Given the description of an element on the screen output the (x, y) to click on. 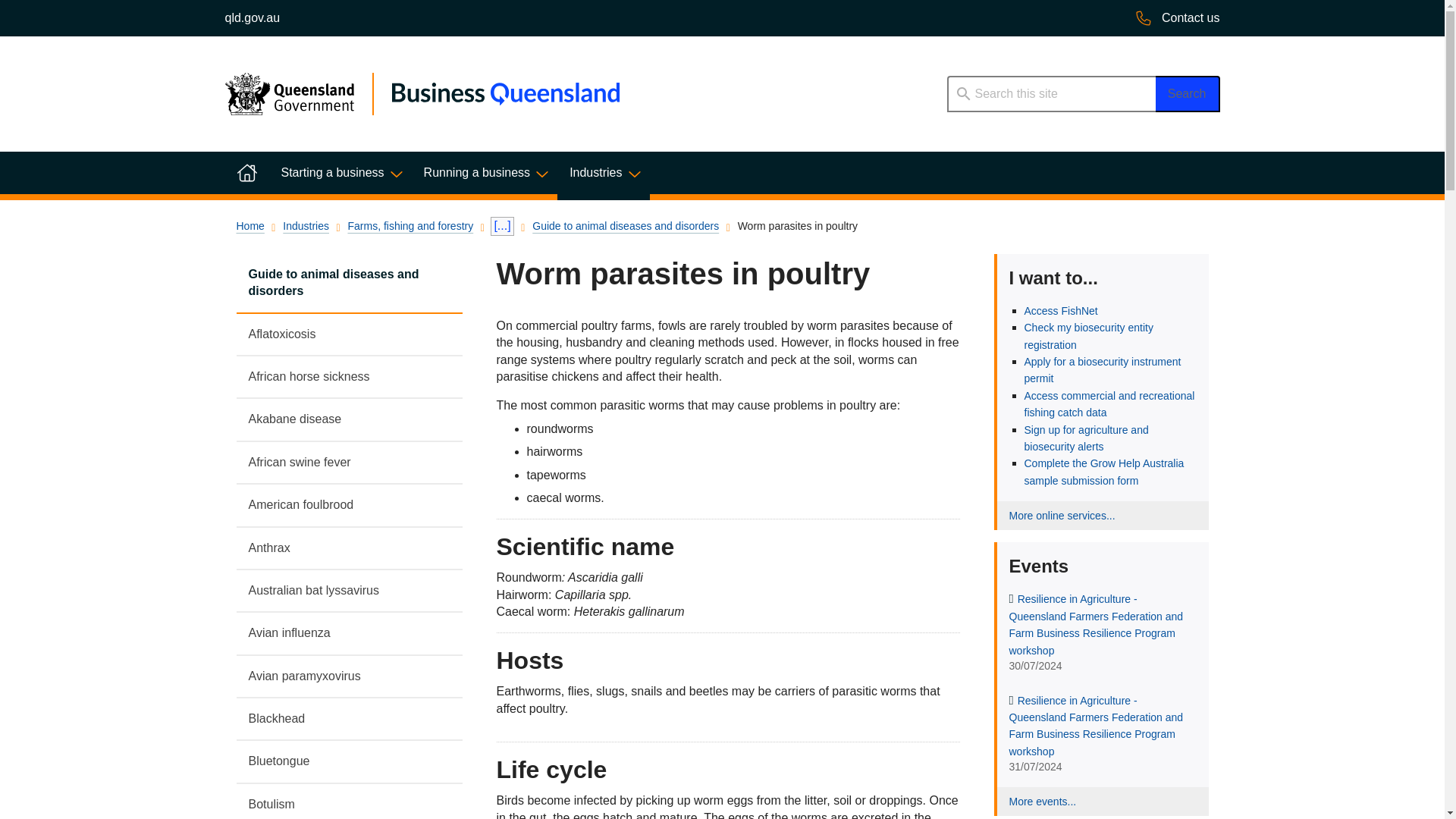
Contact us (1177, 18)
qld.gov.au (251, 18)
Home (245, 172)
Search (1188, 94)
Search this site (1050, 94)
Running a business (484, 172)
Starting a business (338, 172)
